Given the description of an element on the screen output the (x, y) to click on. 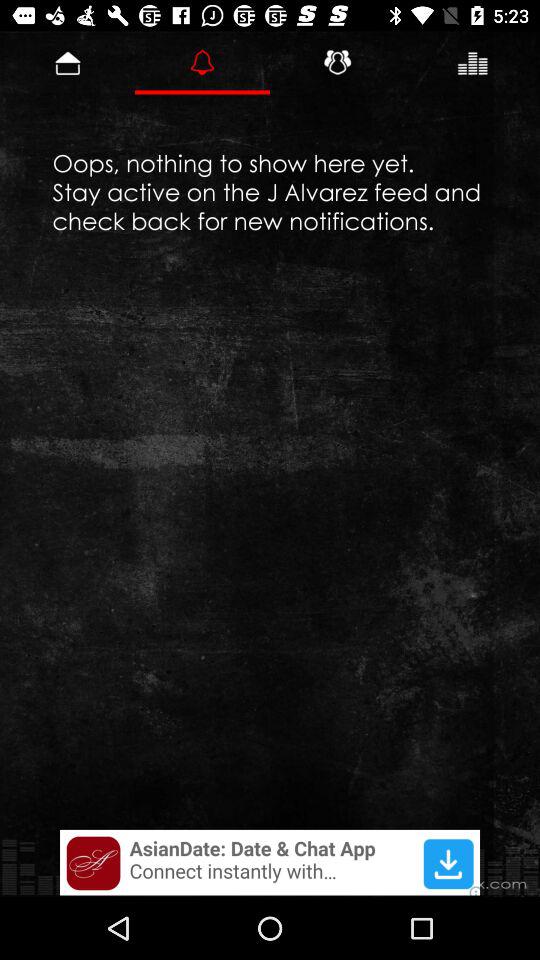
advertisement (270, 862)
